Given the description of an element on the screen output the (x, y) to click on. 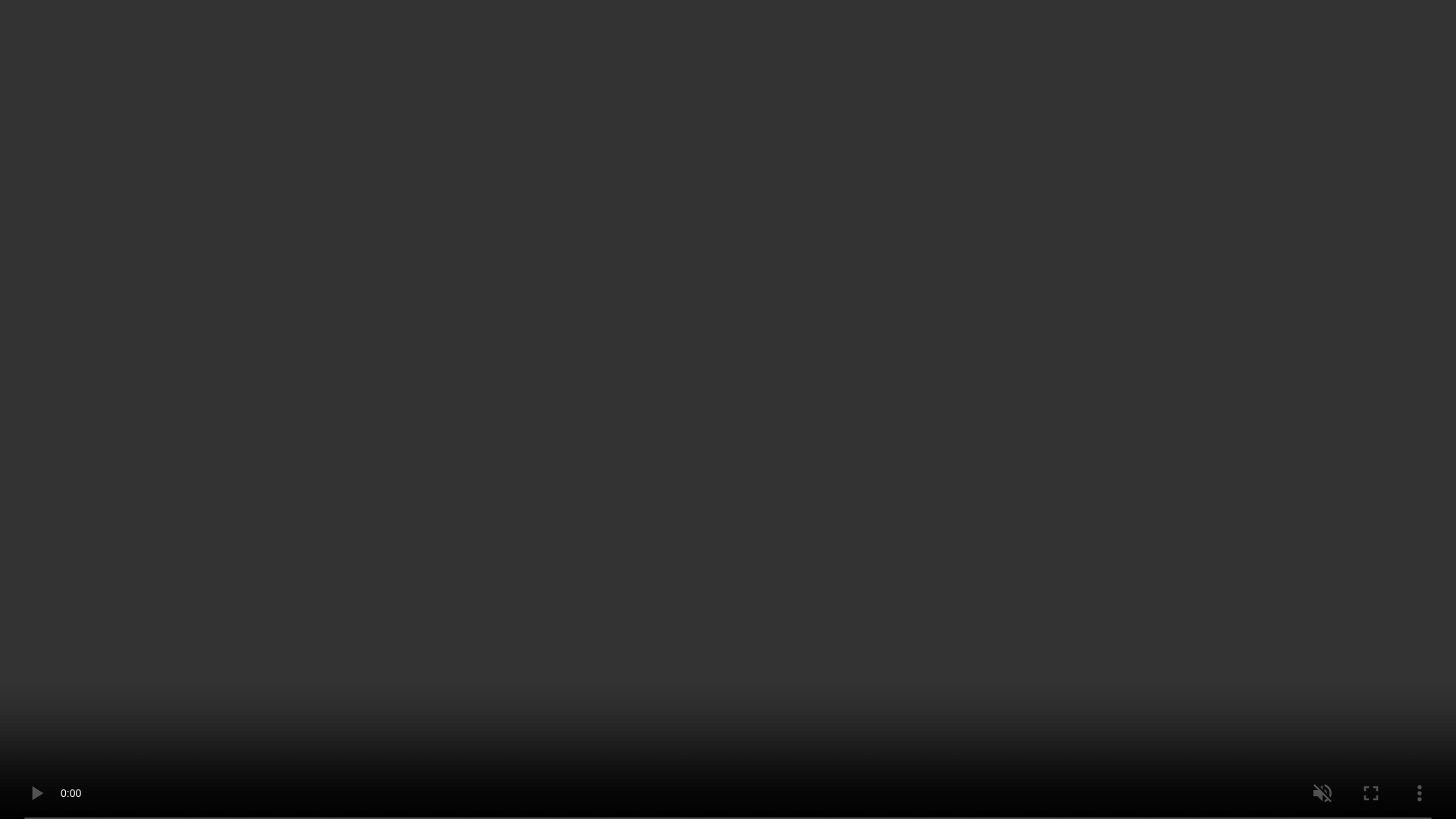
Customer Reviews (1030, 667)
Delivery (1030, 541)
Skip to content (10, 7)
Get Help (820, 47)
Returns (1030, 583)
Promo Codes (1030, 710)
Size Guide (820, 293)
Best Sellers (732, 47)
Home (152, 97)
Black (756, 254)
